Given the description of an element on the screen output the (x, y) to click on. 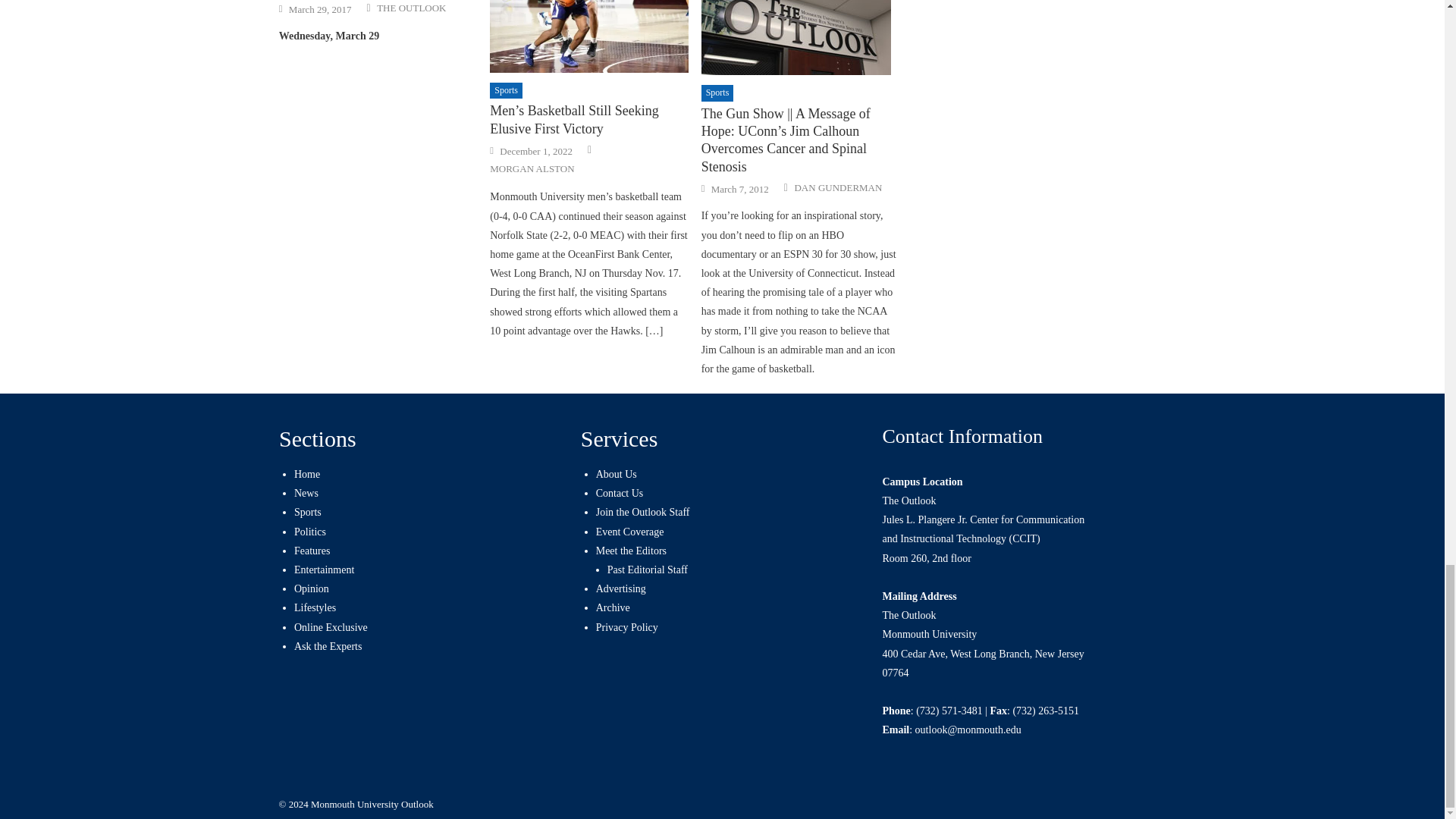
Posts by THE OUTLOOK (411, 8)
THE OUTLOOK (411, 8)
March 7, 2012 (739, 189)
March 29, 2017 (320, 9)
December 1, 2022 (535, 151)
Posts by MORGAN ALSTON (531, 169)
Sports (717, 93)
Sports (505, 90)
MORGAN ALSTON (531, 169)
Posts by DAN GUNDERMAN (837, 187)
